Given the description of an element on the screen output the (x, y) to click on. 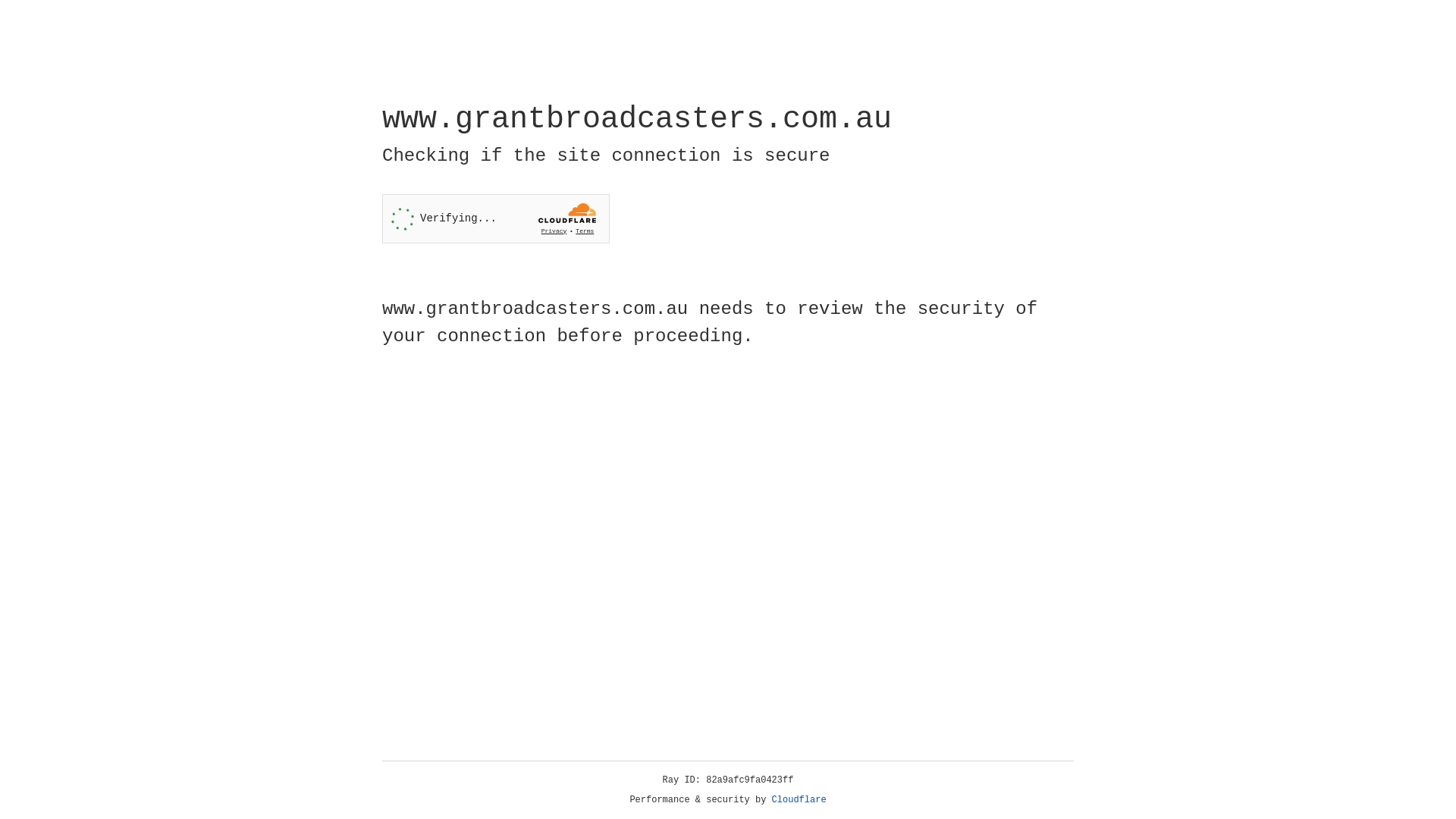
Cloudflare Element type: text (798, 799)
Widget containing a Cloudflare security challenge Element type: hover (495, 218)
